Given the description of an element on the screen output the (x, y) to click on. 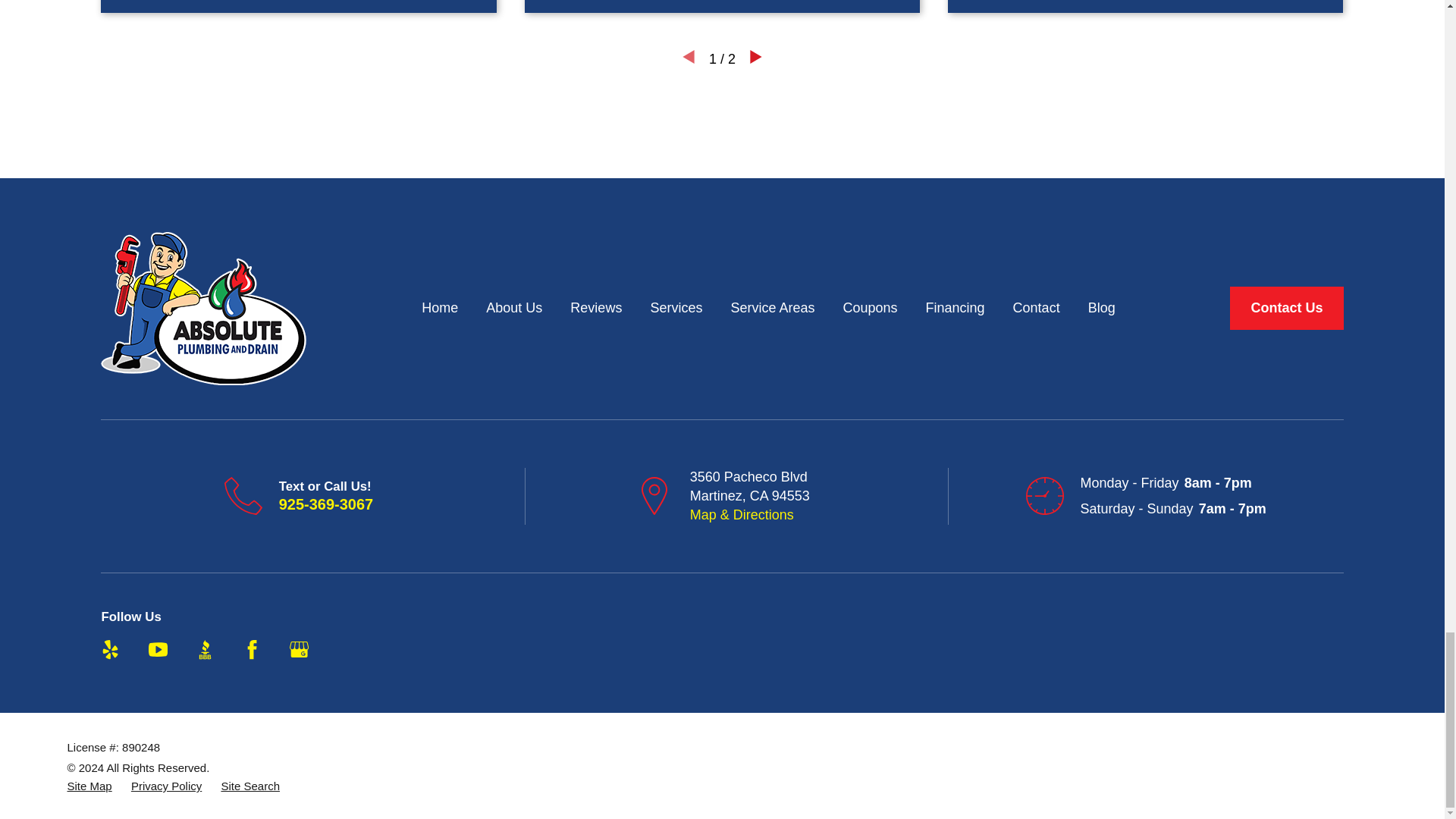
Facebook (252, 649)
Yelp (109, 649)
YouTube (157, 649)
Home (202, 307)
BBB.org (204, 649)
